Given the description of an element on the screen output the (x, y) to click on. 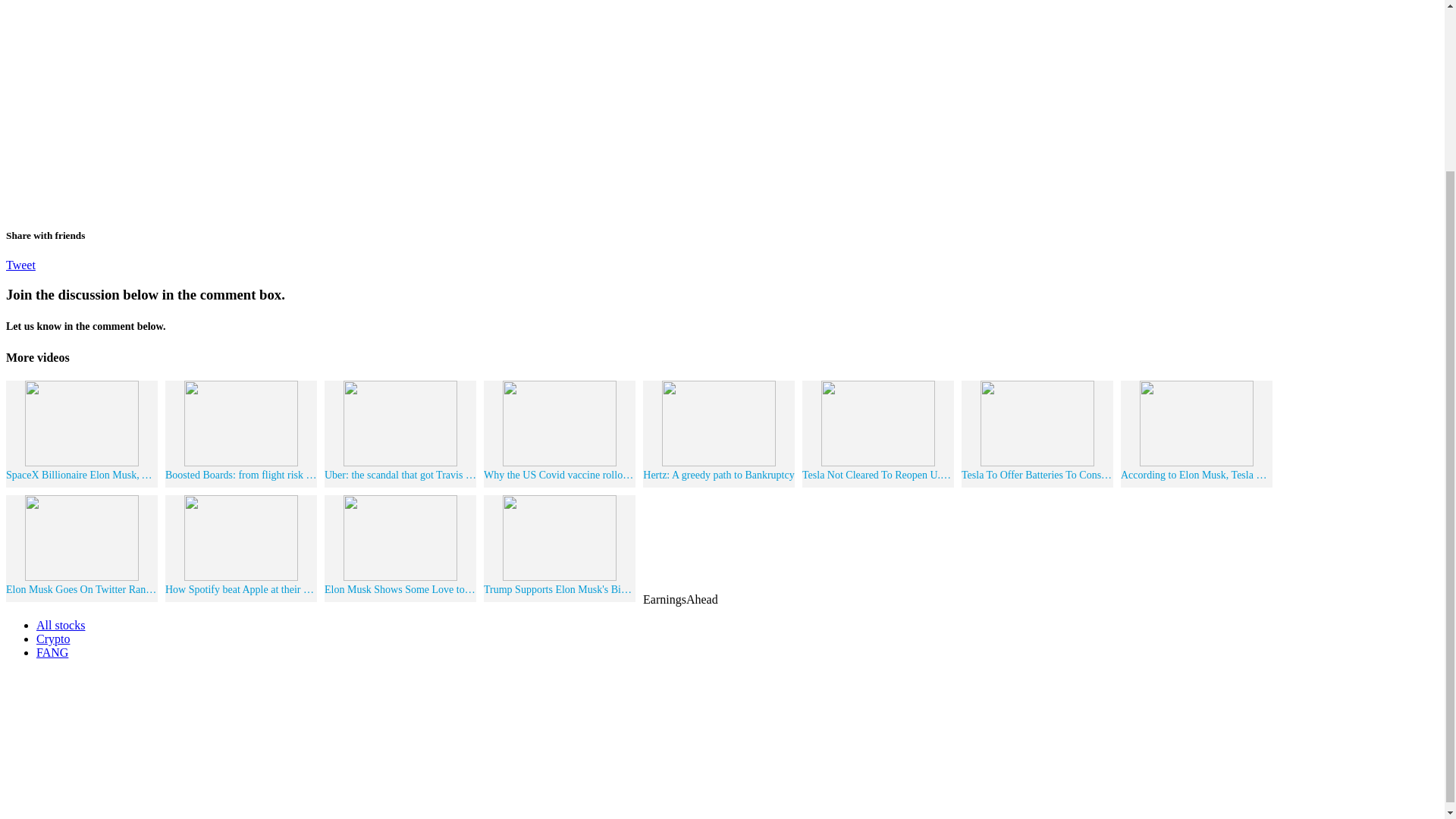
Hertz: A greedy path to Bankruptcy (718, 476)
Uber: the scandal that got Travis Kalanick fired (400, 476)
Elon Musk Shows Some Love to Rocket-building Game 'Kerbal' (400, 590)
Crypto (52, 638)
Hertz: A greedy path to Bankruptcy (718, 476)
